Given the description of an element on the screen output the (x, y) to click on. 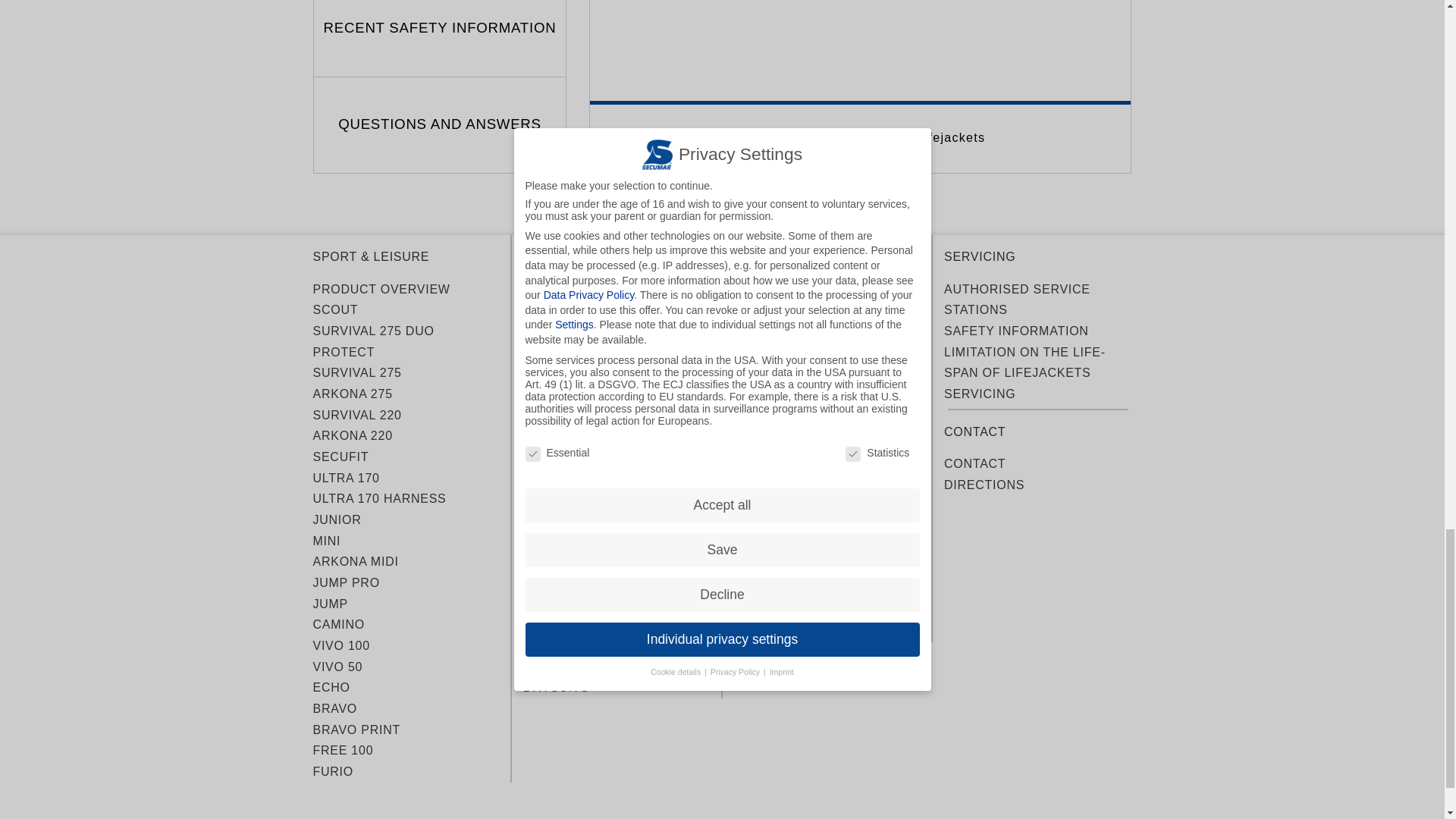
Linkedin (1028, 513)
Facebook (958, 513)
Instagram (1063, 513)
YouTube (993, 513)
